Given the description of an element on the screen output the (x, y) to click on. 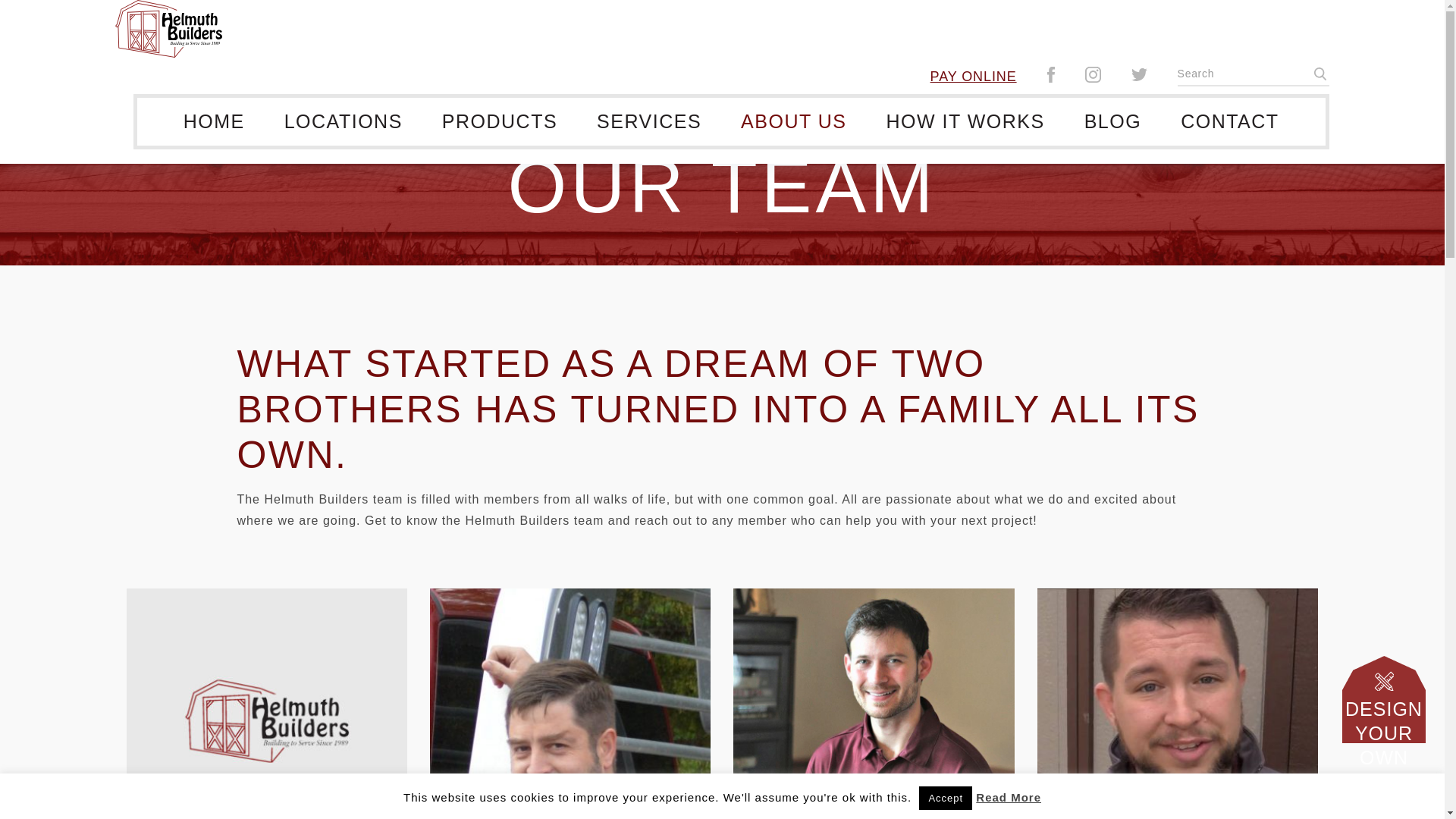
SERVICES (648, 121)
ABOUT US (793, 121)
PRODUCTS (499, 121)
Services (648, 121)
CONTACT (1229, 121)
LOCATIONS (343, 121)
Home (213, 121)
PAY ONLINE (973, 76)
HOW IT WORKS (965, 121)
Locations (343, 121)
About Us (793, 121)
Products (499, 121)
BLOG (1112, 121)
HOME (213, 121)
